Given the description of an element on the screen output the (x, y) to click on. 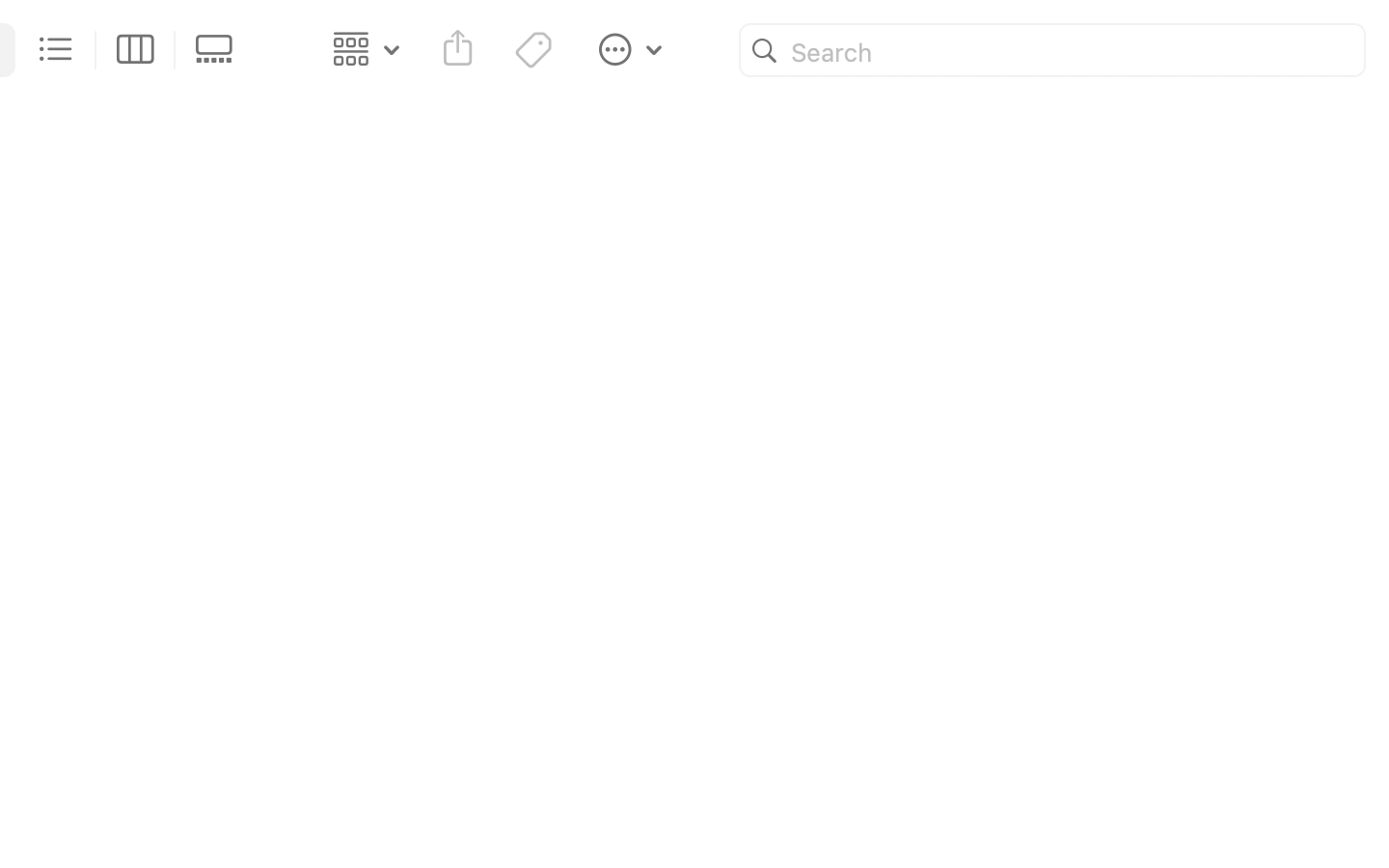
0 Element type: AXRadioButton (219, 49)
